Given the description of an element on the screen output the (x, y) to click on. 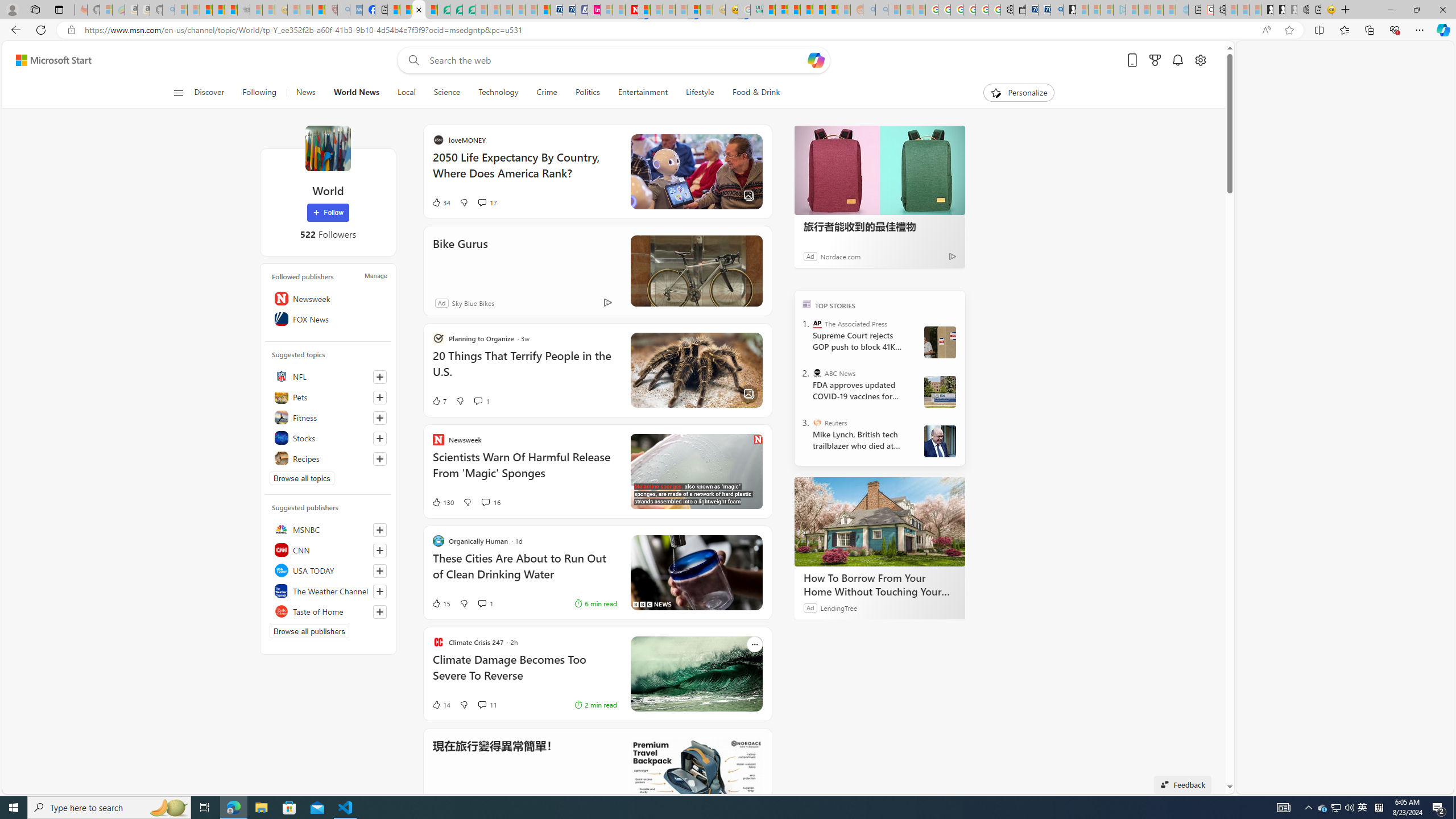
Bing Real Estate - Home sales and rental listings (1056, 9)
14 Like (440, 704)
Follow this source (379, 612)
